Given the description of an element on the screen output the (x, y) to click on. 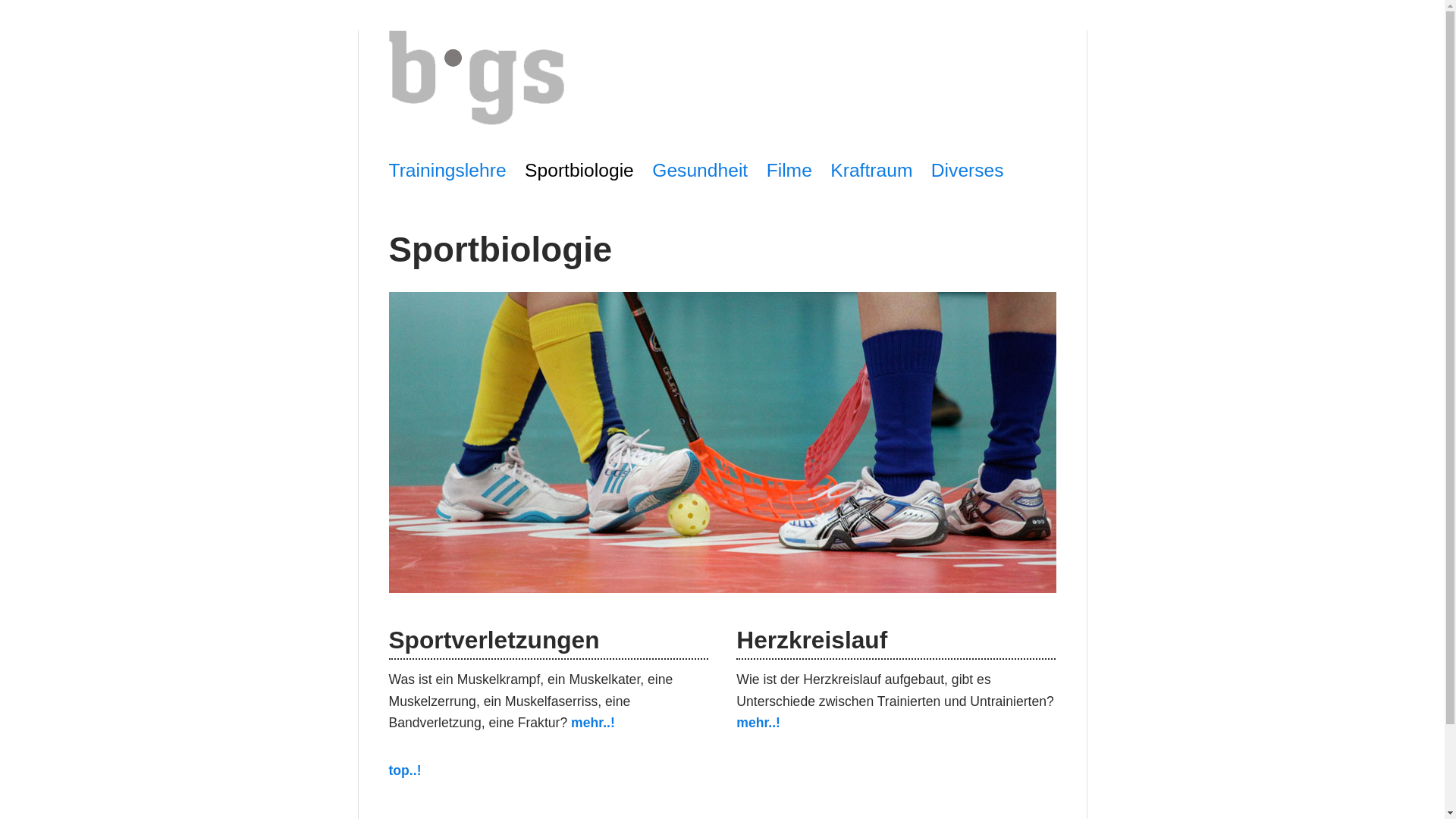
Diverses Element type: text (967, 170)
mehr..! Element type: text (593, 722)
Gesundheit Element type: text (699, 170)
mehr..! Element type: text (758, 722)
Trainingslehre Element type: text (446, 170)
top..! Element type: text (404, 770)
Sportbiologie Element type: text (578, 170)
Kraftraum Element type: text (871, 170)
Filme Element type: text (789, 170)
